Given the description of an element on the screen output the (x, y) to click on. 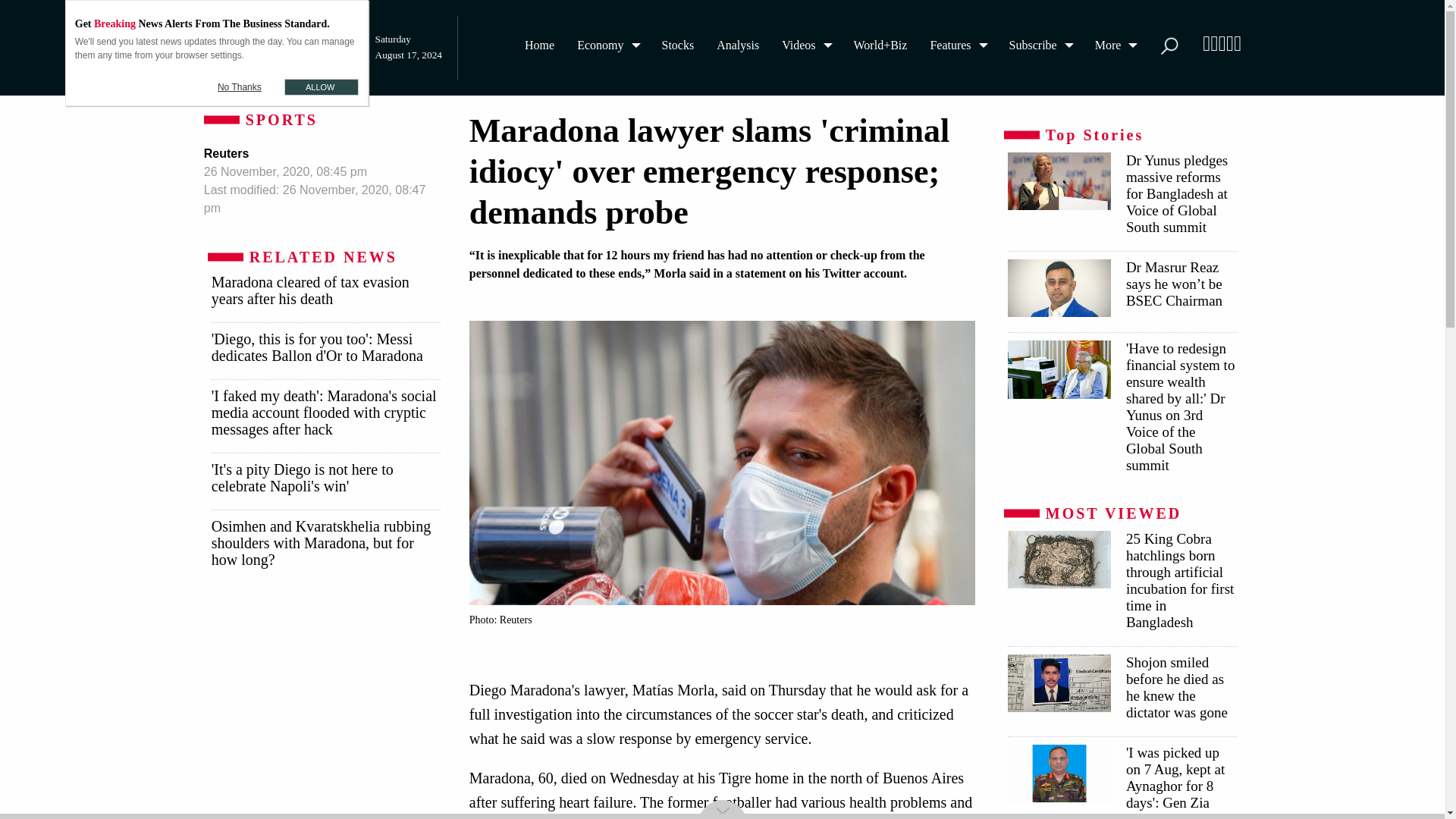
No Thanks (239, 86)
    ALLOW      (320, 86)
